Given the description of an element on the screen output the (x, y) to click on. 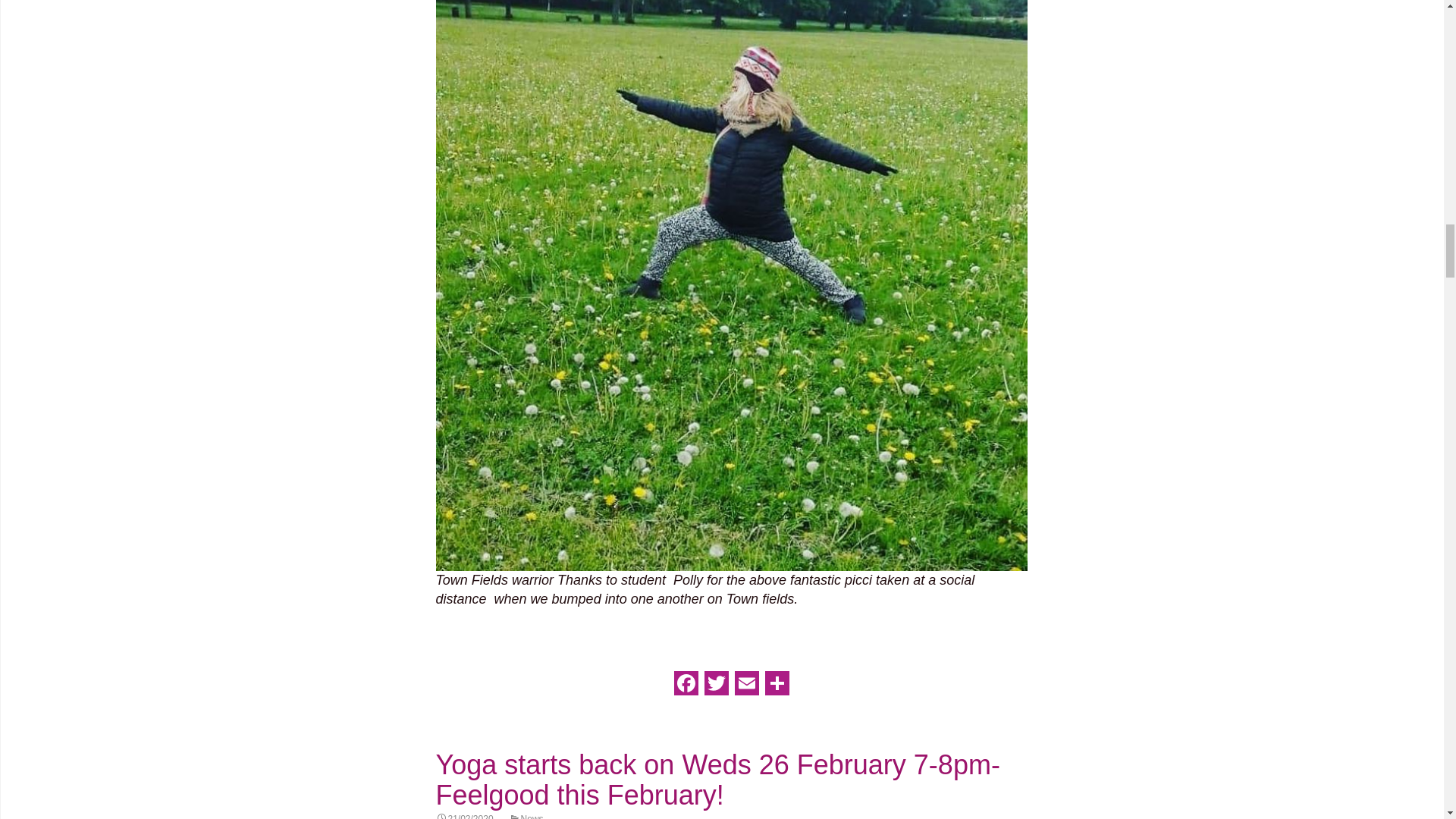
Email (745, 687)
Facebook (684, 687)
Twitter (715, 687)
